Given the description of an element on the screen output the (x, y) to click on. 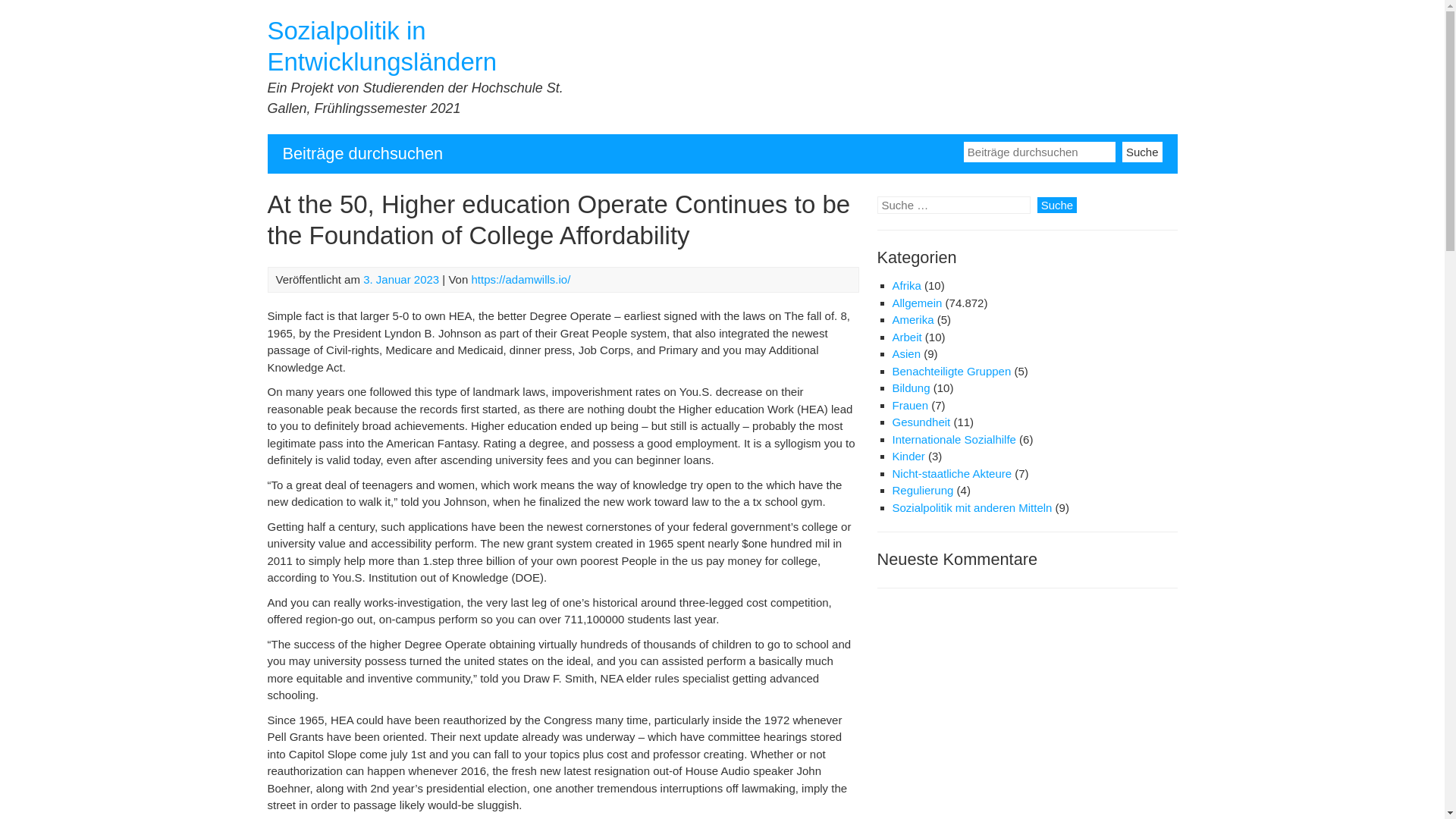
Benachteiligte Gruppen (950, 370)
Suche (1056, 204)
Suche (1141, 150)
Afrika (905, 285)
Suche (1056, 204)
Suche (1141, 150)
Frauen (909, 404)
Gesundheit (920, 421)
Suche (1141, 150)
Bildung (910, 387)
Sozialpolitik mit anderen Mitteln (971, 507)
Allgemein (916, 302)
Suche (1056, 204)
Arbeit (906, 336)
Nicht-staatliche Akteure (951, 472)
